Given the description of an element on the screen output the (x, y) to click on. 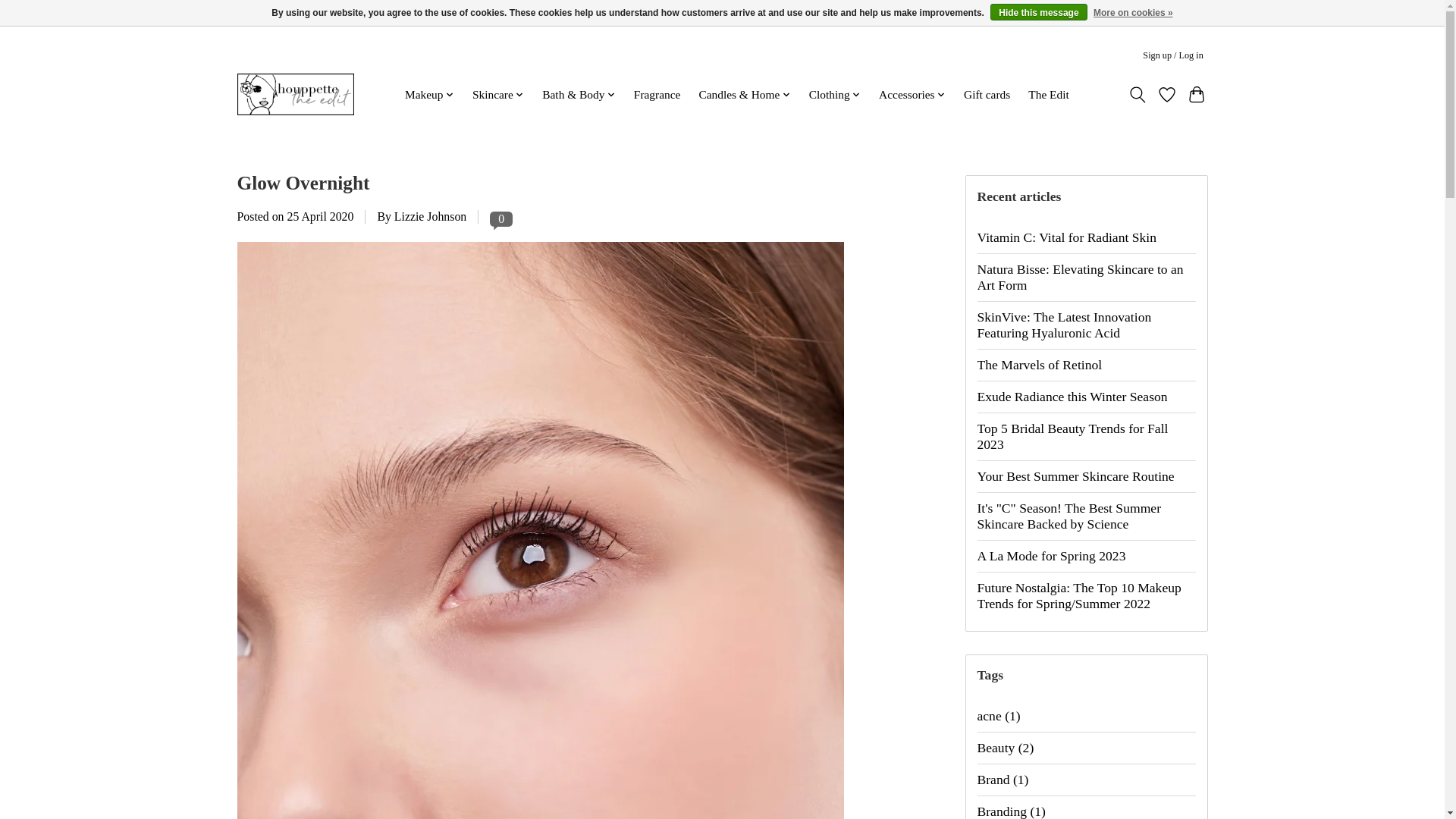
View comments about Glow Overnight (500, 219)
It's "C" Season! The Best Summer Skincare Backed by Science (1085, 516)
My account (1173, 55)
Vitamin C: Vital for Radiant Skin (1085, 236)
A La Mode for Spring 2023 (1085, 554)
Your Best Summer Skincare Routine (1085, 476)
Makeup (429, 94)
Natura Bisse: Elevating Skincare to an Art Form (1085, 276)
Top 5 Bridal Beauty Trends for Fall 2023 (1085, 435)
Glow Overnight (302, 182)
Exude Radiance this Winter Season (1085, 395)
SkinVive: The Latest Innovation Featuring Hyaluronic Acid (1085, 325)
The Marvels of Retinol (1085, 364)
